Given the description of an element on the screen output the (x, y) to click on. 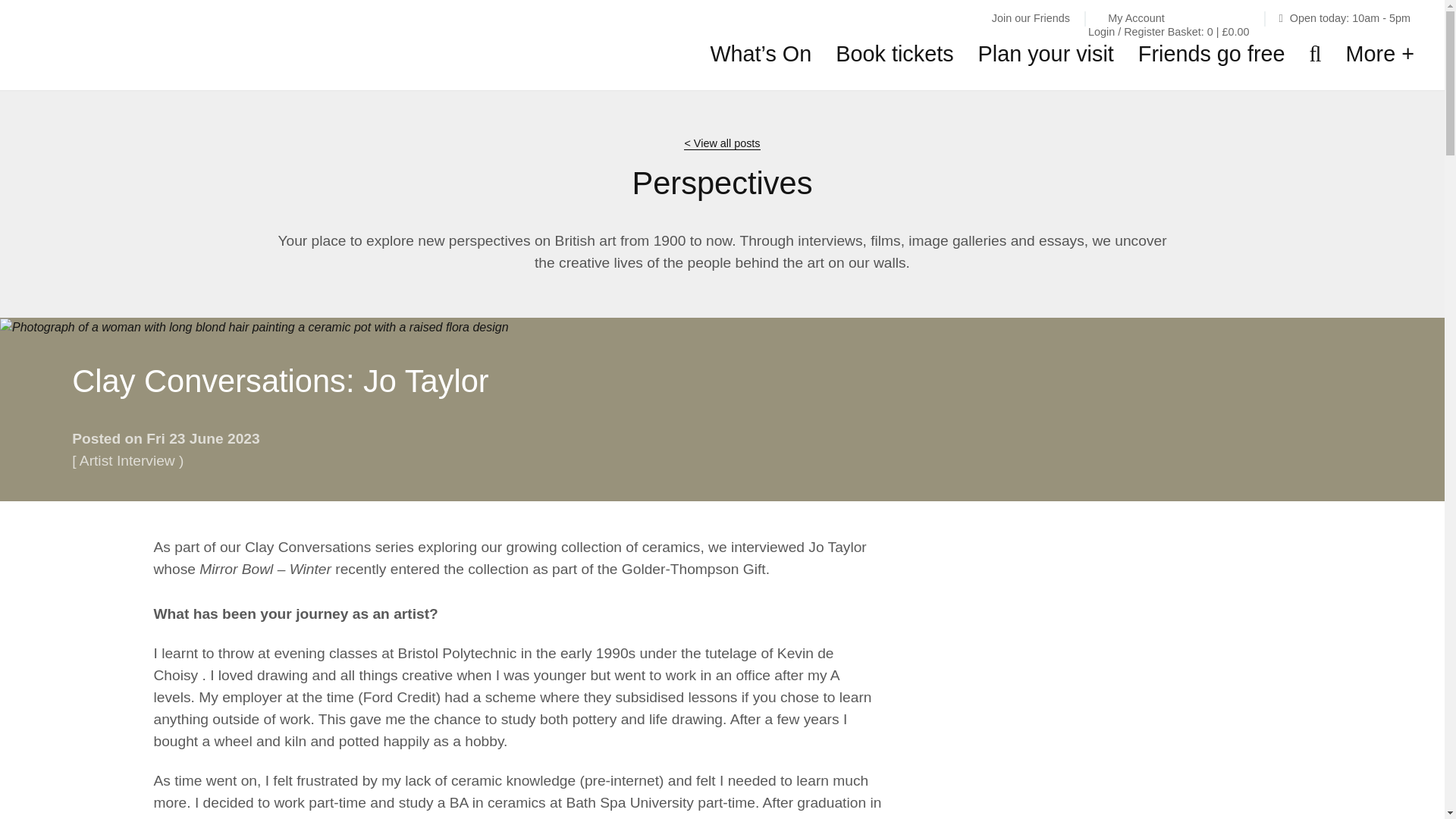
Jo Taylor - People Make Museums (254, 327)
Friends go free (1211, 53)
Book tickets (894, 53)
Plan your visit (1045, 53)
